Given the description of an element on the screen output the (x, y) to click on. 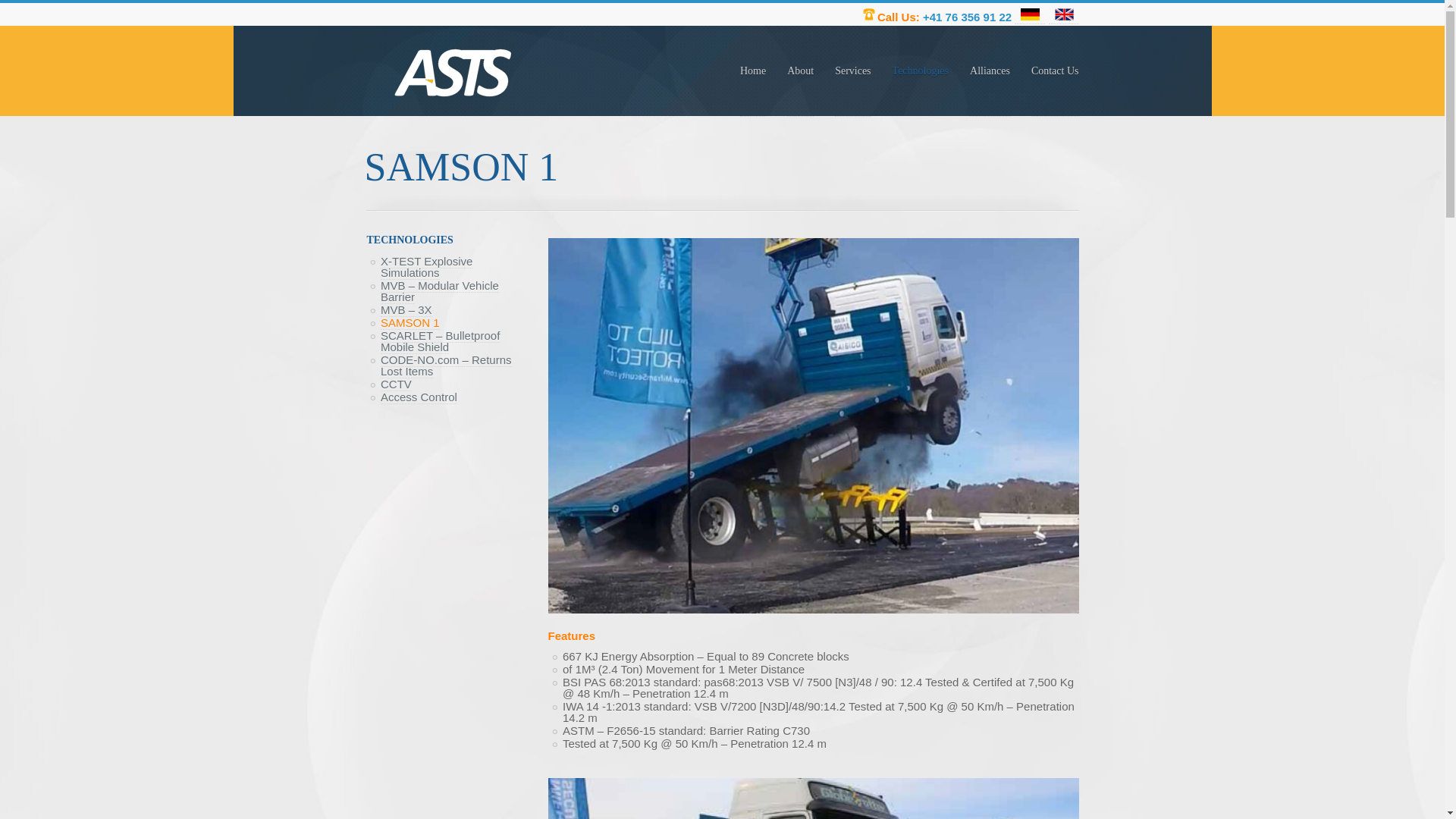
Home Element type: text (752, 70)
Access Control Element type: text (418, 397)
SAMSON 1 Element type: text (409, 322)
About Element type: text (800, 70)
ASTS GmbH Element type: hover (456, 74)
CCTV Element type: text (395, 384)
Technologies Element type: text (920, 70)
Contact Us Element type: text (1055, 70)
Alliances Element type: text (989, 70)
Skip to content Element type: text (593, 25)
X-TEST Explosive Simulations Element type: text (426, 266)
Services Element type: text (852, 70)
